Given the description of an element on the screen output the (x, y) to click on. 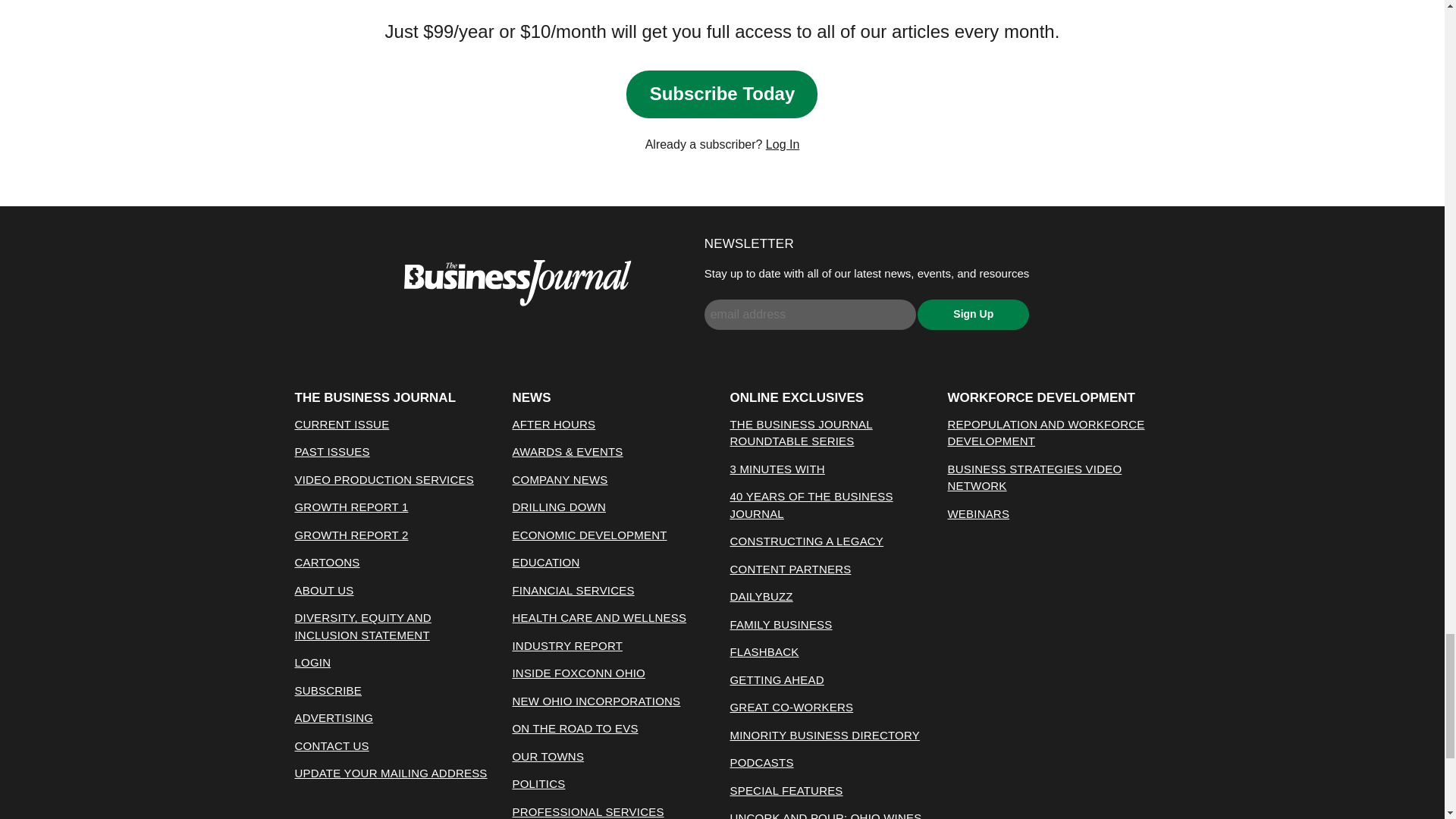
Sign Up (973, 314)
